Given the description of an element on the screen output the (x, y) to click on. 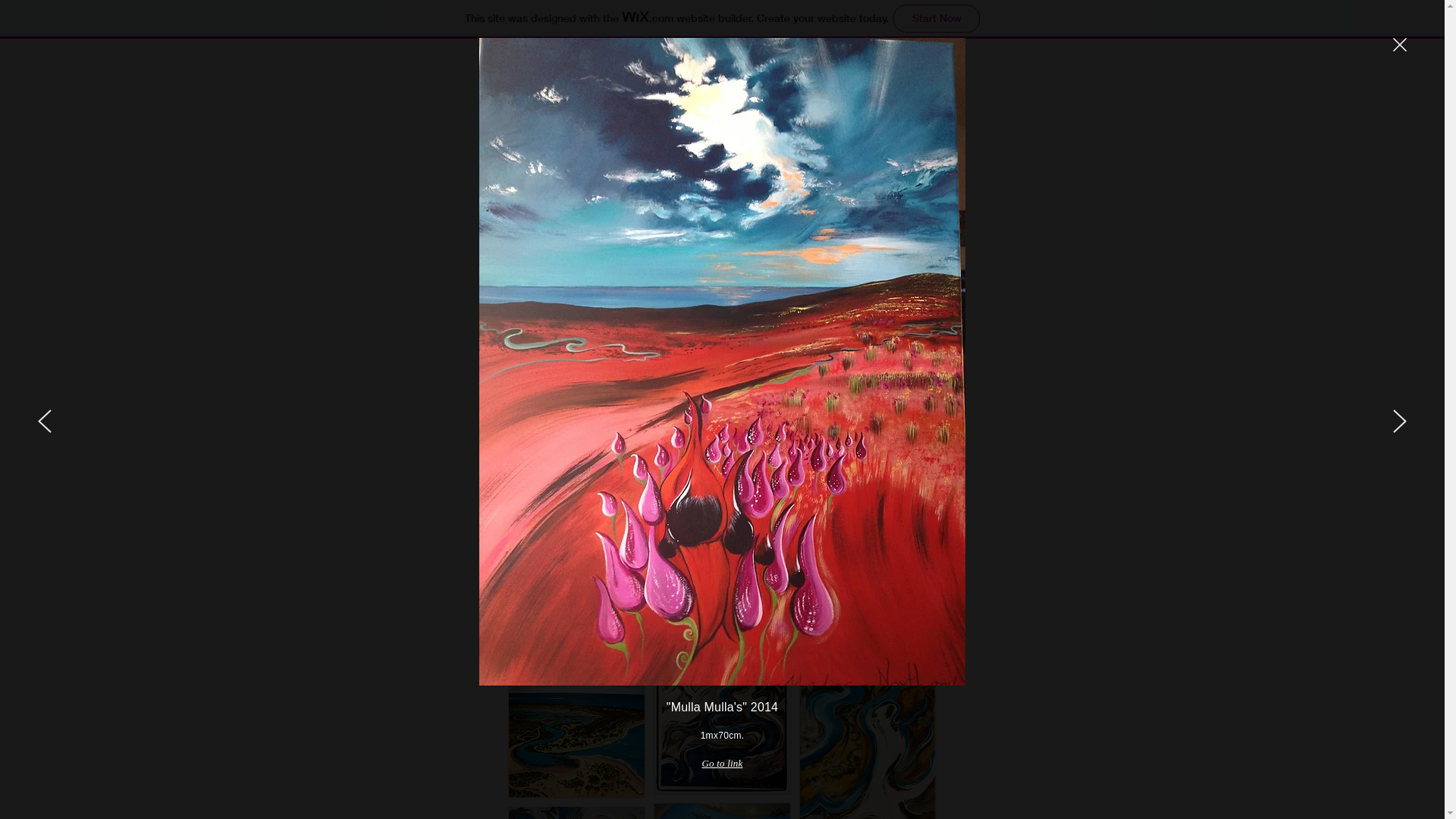
home Element type: text (606, 246)
about Element type: text (673, 246)
Go to link Element type: text (722, 763)
contact Element type: text (867, 246)
MISSION Element type: text (721, 141)
GALLERY Element type: text (721, 175)
exhibitions Element type: text (767, 246)
signature.jpg Element type: hover (729, 140)
